Given the description of an element on the screen output the (x, y) to click on. 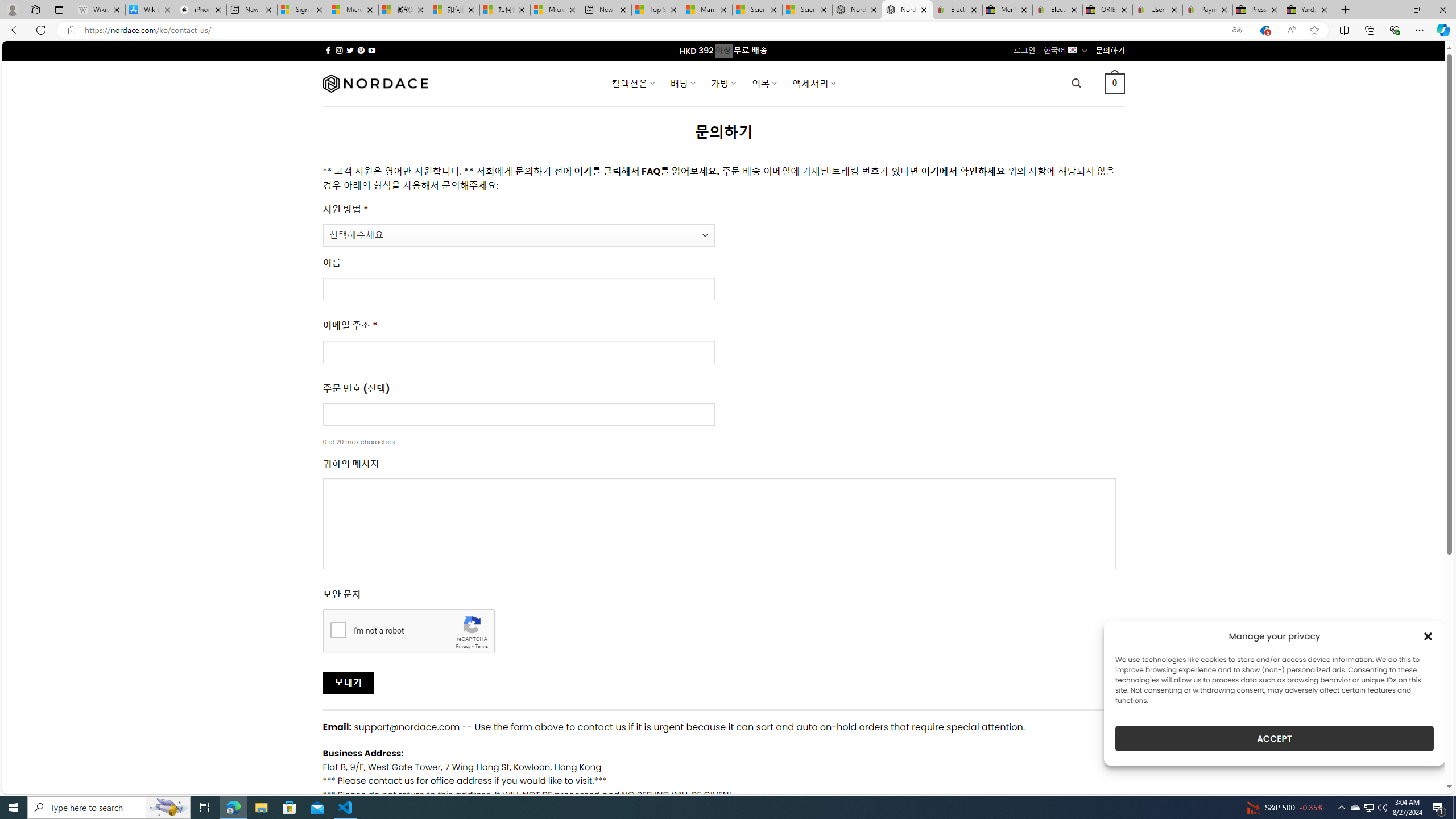
 0  (1115, 83)
